Given the description of an element on the screen output the (x, y) to click on. 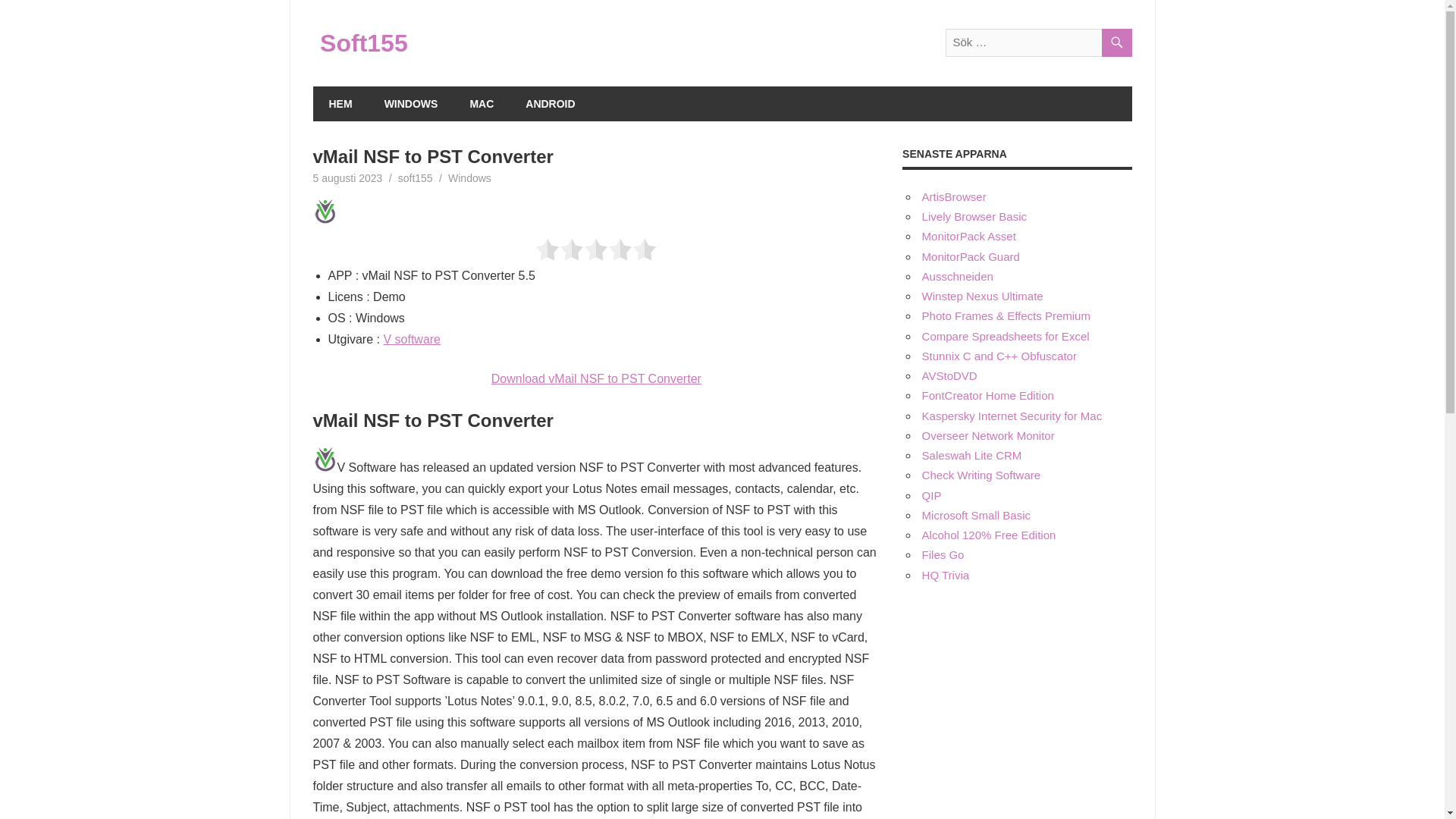
Saleswah Lite CRM (971, 454)
Kaspersky Internet Security for Mac (1011, 415)
Download vMail NSF to PST Converter (596, 378)
Overseer Network Monitor (987, 435)
ArtisBrowser (954, 196)
Soft155 (363, 42)
5 augusti 2023 (347, 177)
Windows (470, 177)
vMail NSF to PST Converter (324, 459)
06:36 (347, 177)
Compare Spreadsheets for Excel (1005, 336)
MAC (480, 103)
Lively Browser Basic (973, 215)
Microsoft Small Basic (975, 514)
Ausschneiden (956, 276)
